Given the description of an element on the screen output the (x, y) to click on. 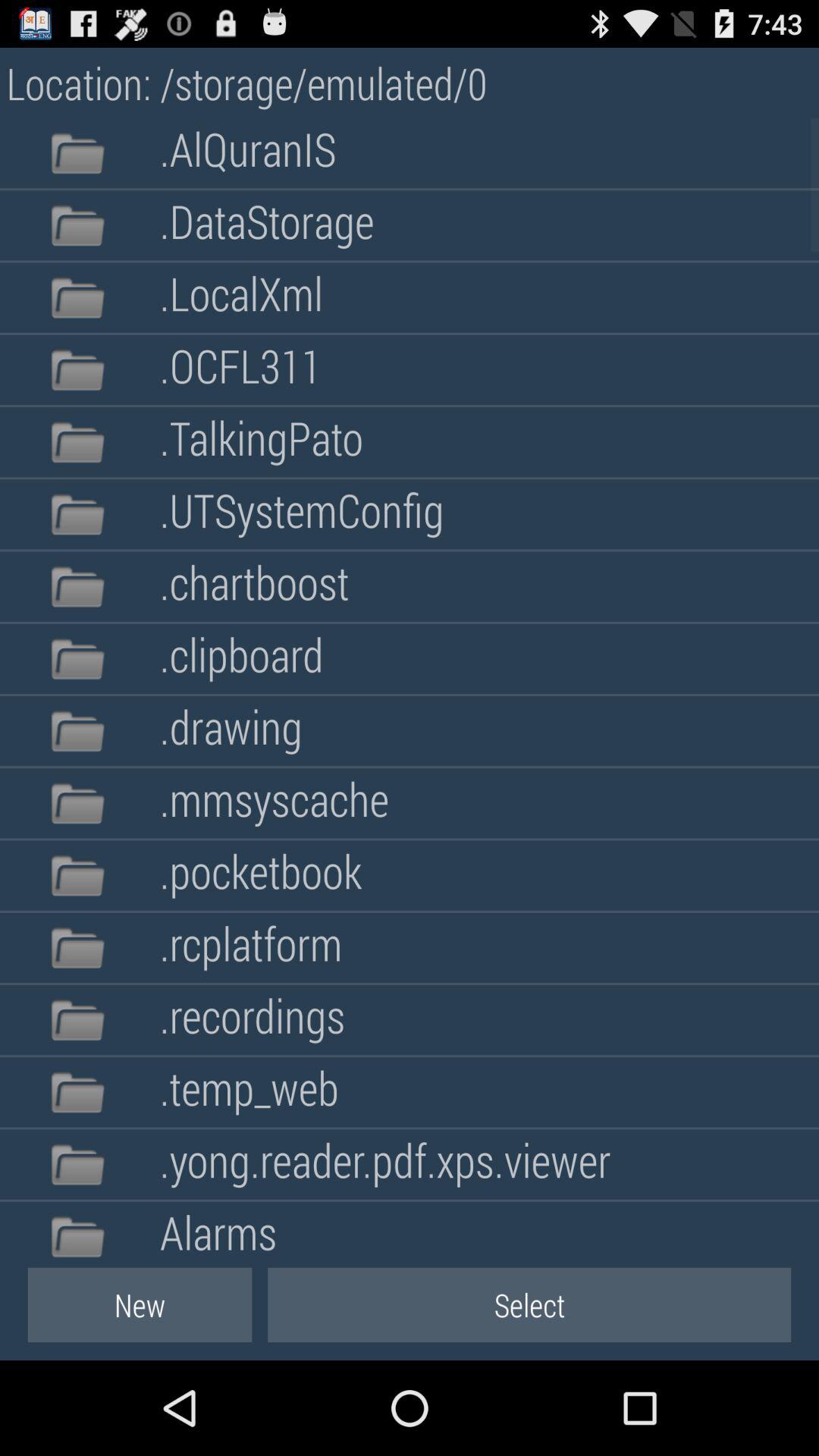
select .utsystemconfig (301, 514)
